Given the description of an element on the screen output the (x, y) to click on. 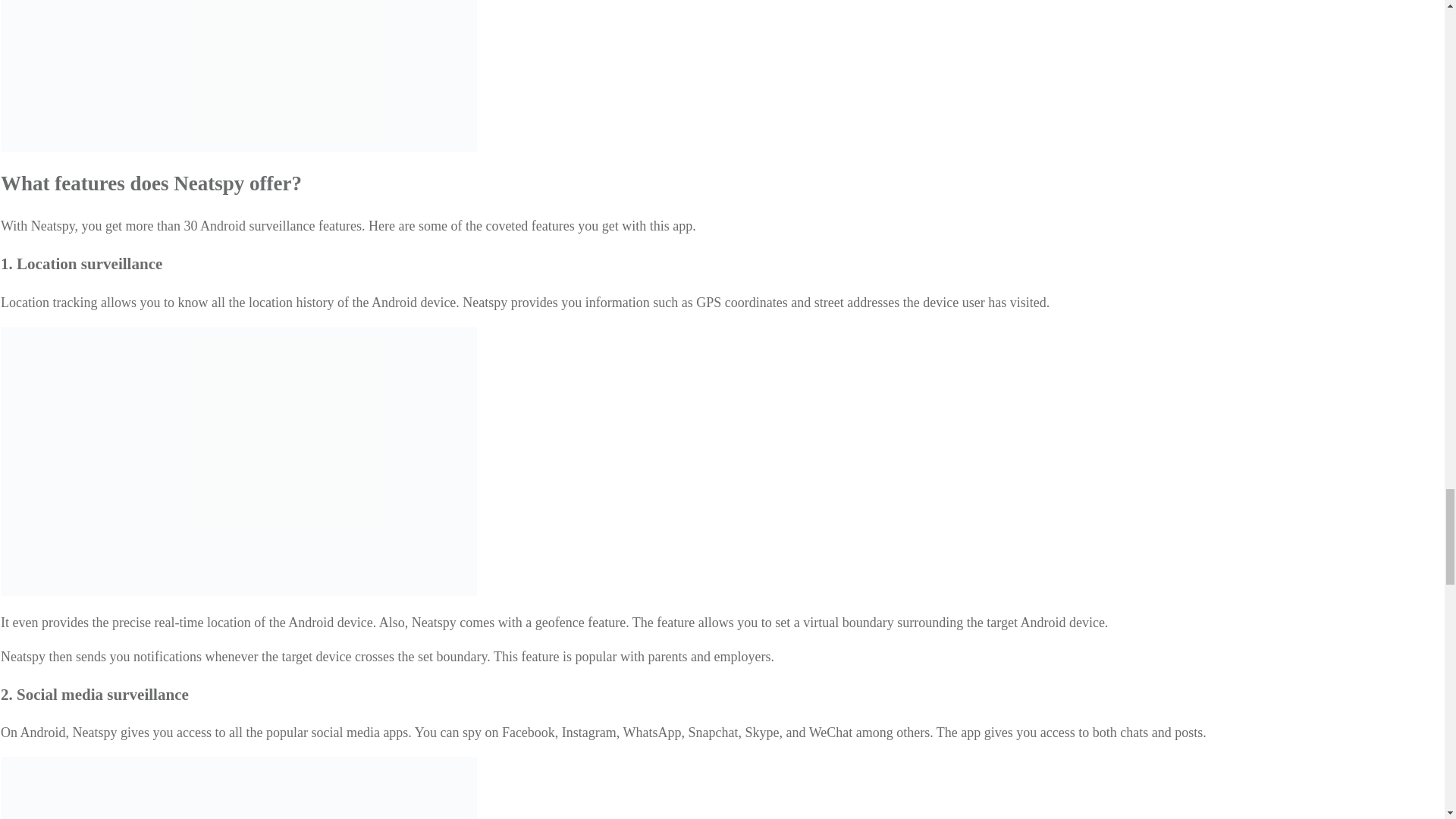
How to Spy on Someone's Android Without Them Knowing 4 (239, 75)
How to Spy on Someone's Android Without Them Knowing 5 (239, 461)
How to Spy on Someone's Android Without Them Knowing 6 (239, 787)
